Given the description of an element on the screen output the (x, y) to click on. 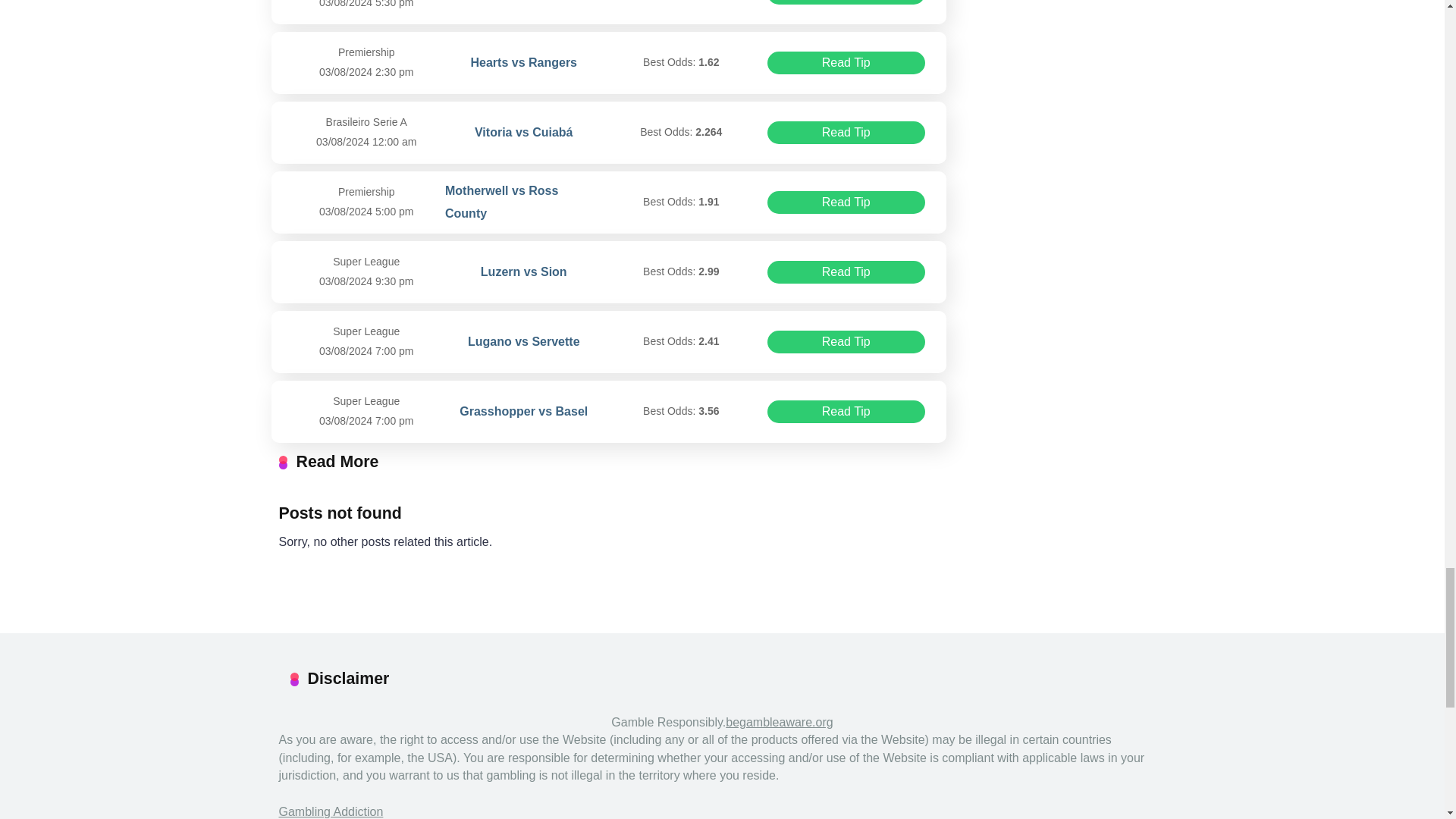
Read Tip (845, 272)
Read Tip (845, 132)
Read Tip (845, 411)
Read Tip (845, 341)
Read Tip (845, 2)
Read Tip (845, 201)
Read Tip (845, 62)
